Given the description of an element on the screen output the (x, y) to click on. 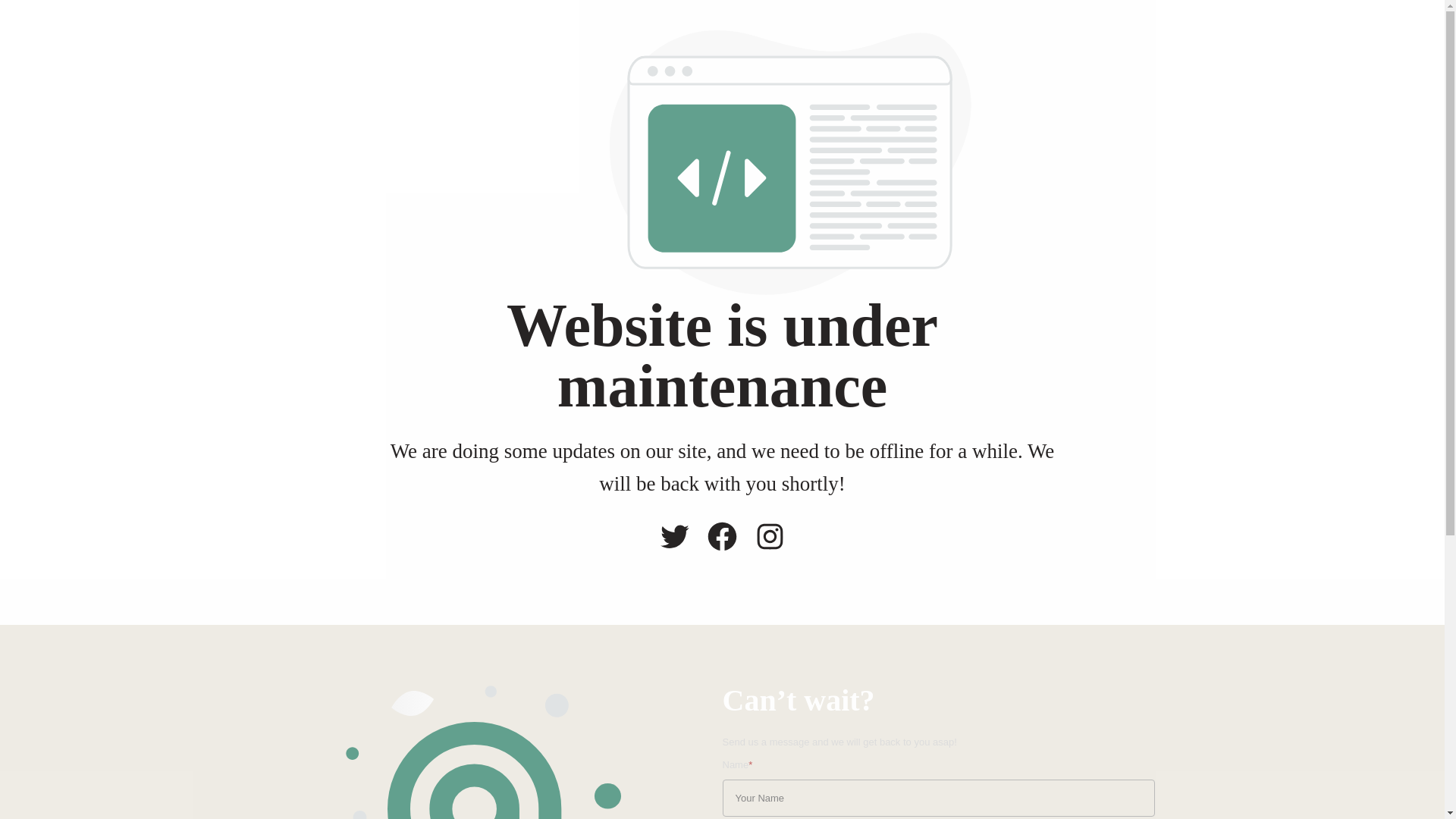
Facebook (721, 536)
Instagram (769, 536)
Twitter (674, 536)
